Given the description of an element on the screen output the (x, y) to click on. 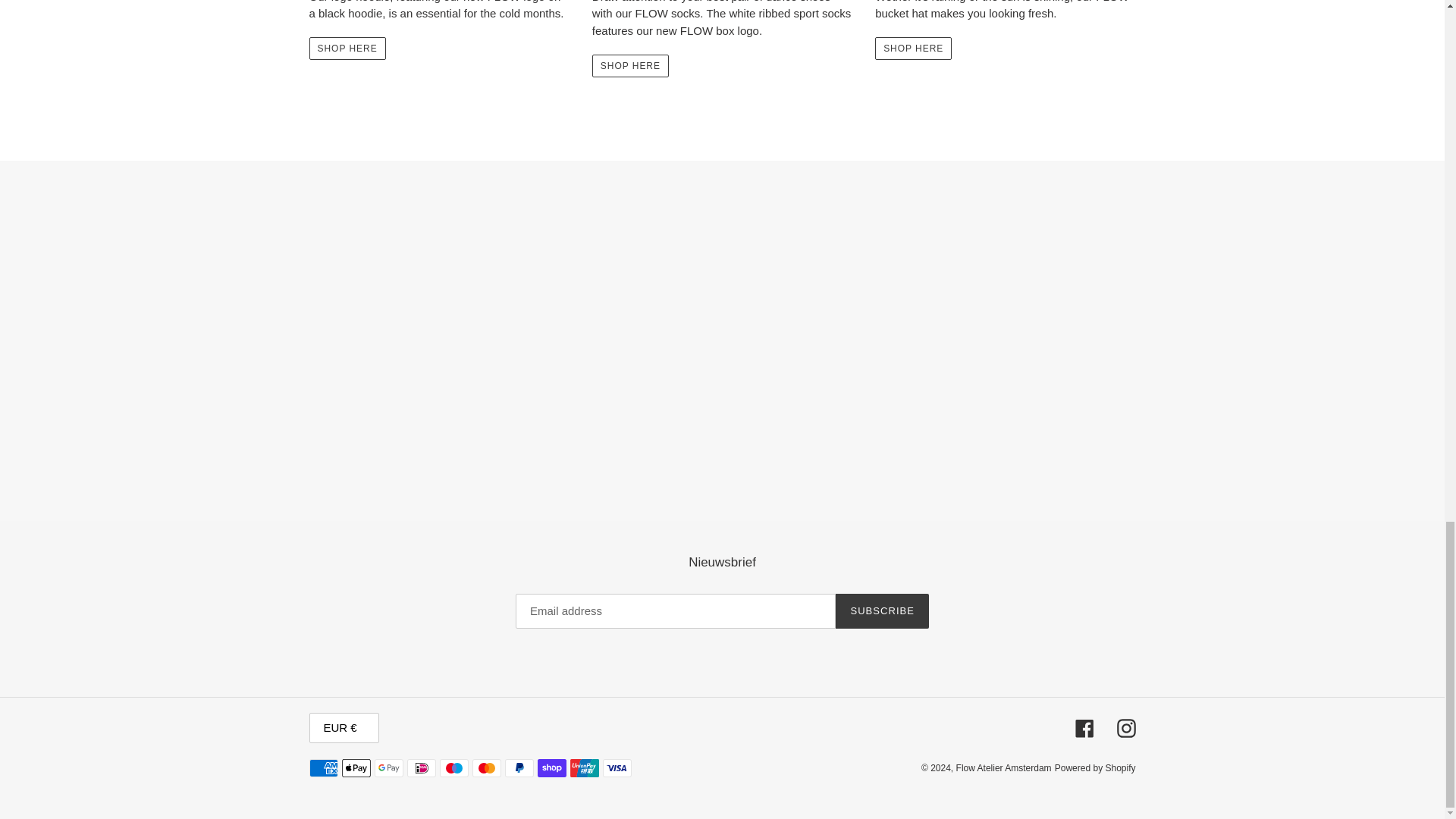
SUBSCRIBE (881, 610)
SHOP HERE (346, 47)
SHOP HERE (913, 47)
SHOP HERE (630, 65)
